Given the description of an element on the screen output the (x, y) to click on. 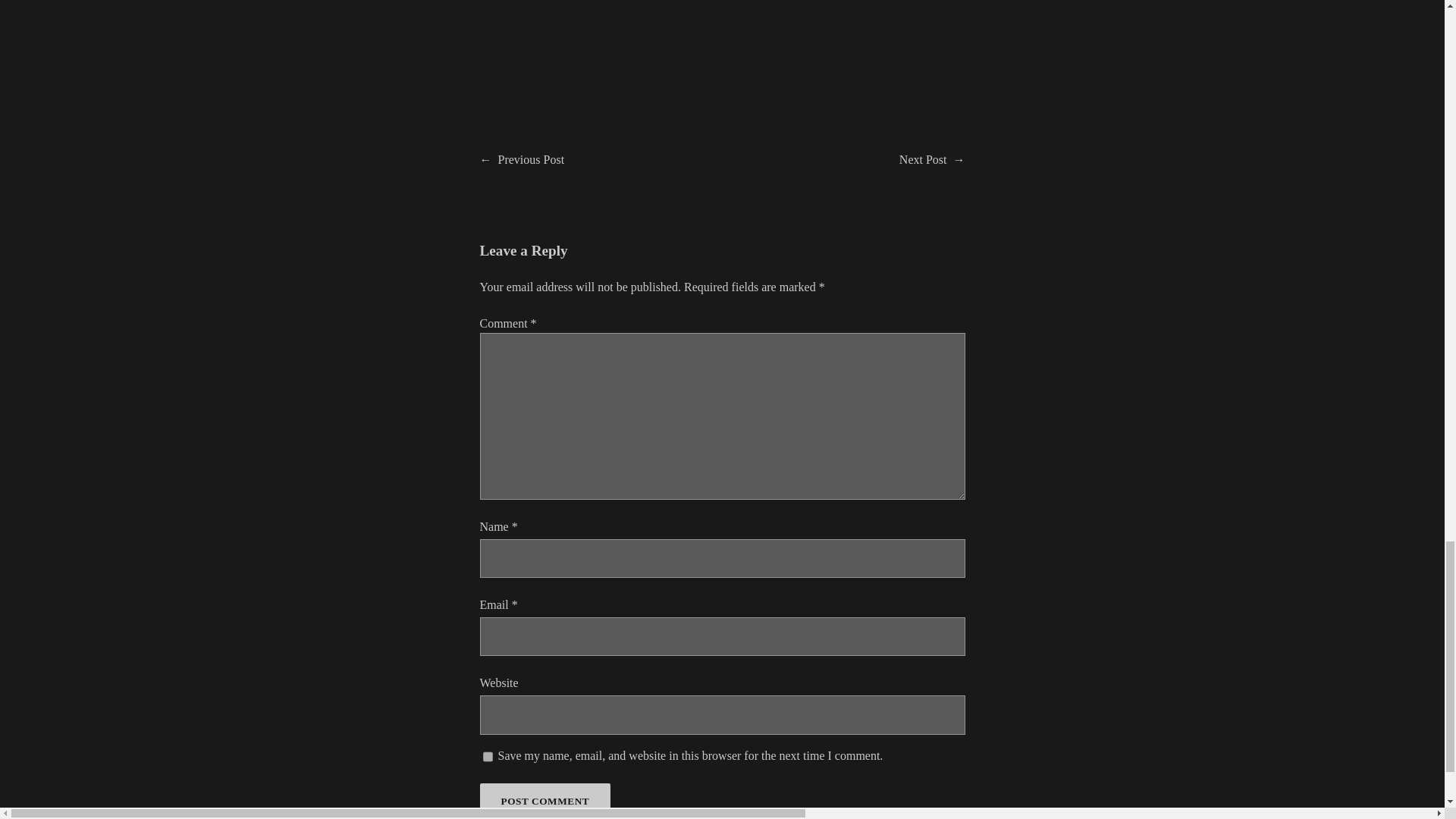
yes (486, 756)
Previous Post (530, 159)
Next Post (923, 159)
